Given the description of an element on the screen output the (x, y) to click on. 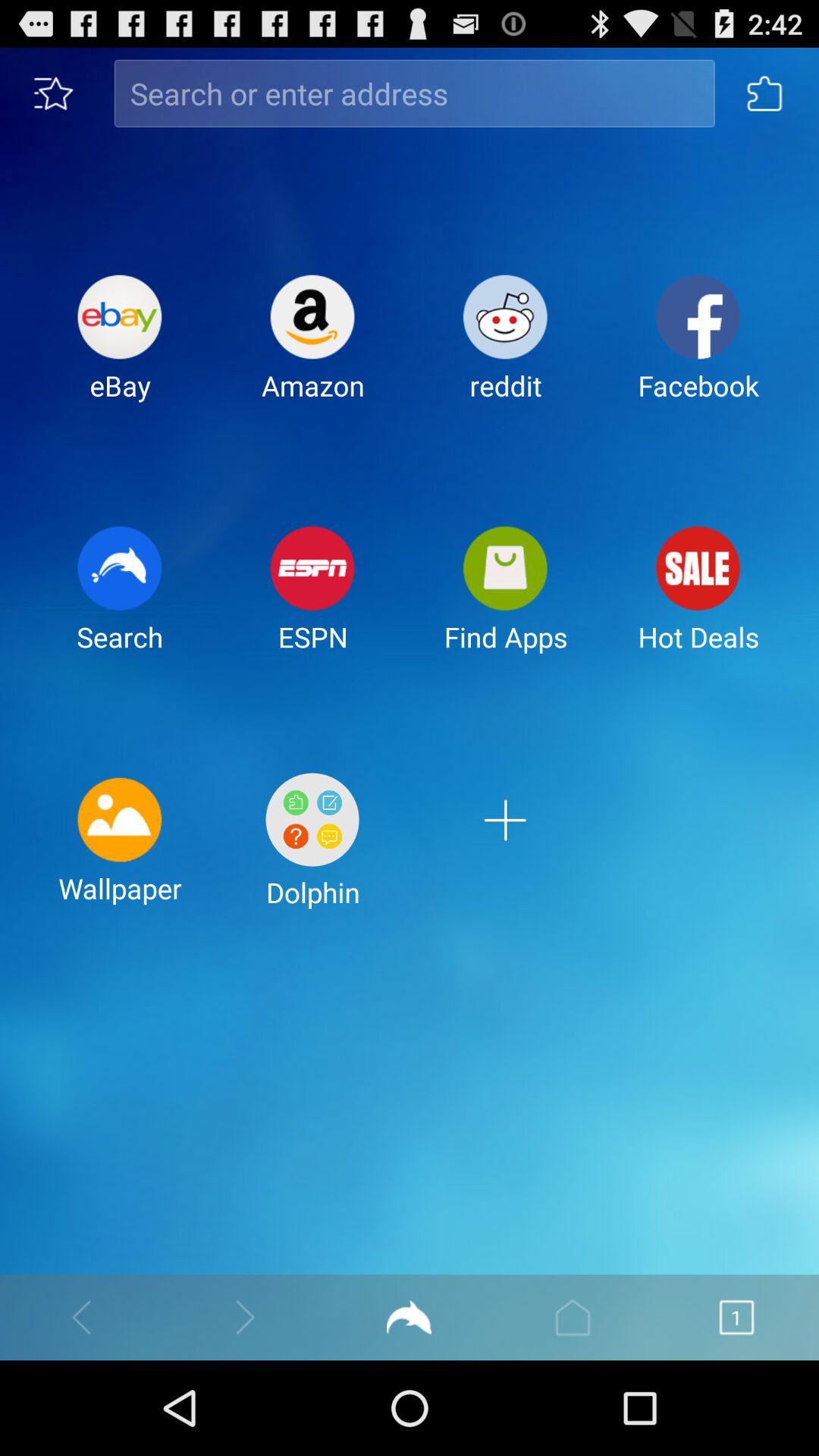
flip until the hot deals icon (698, 601)
